Given the description of an element on the screen output the (x, y) to click on. 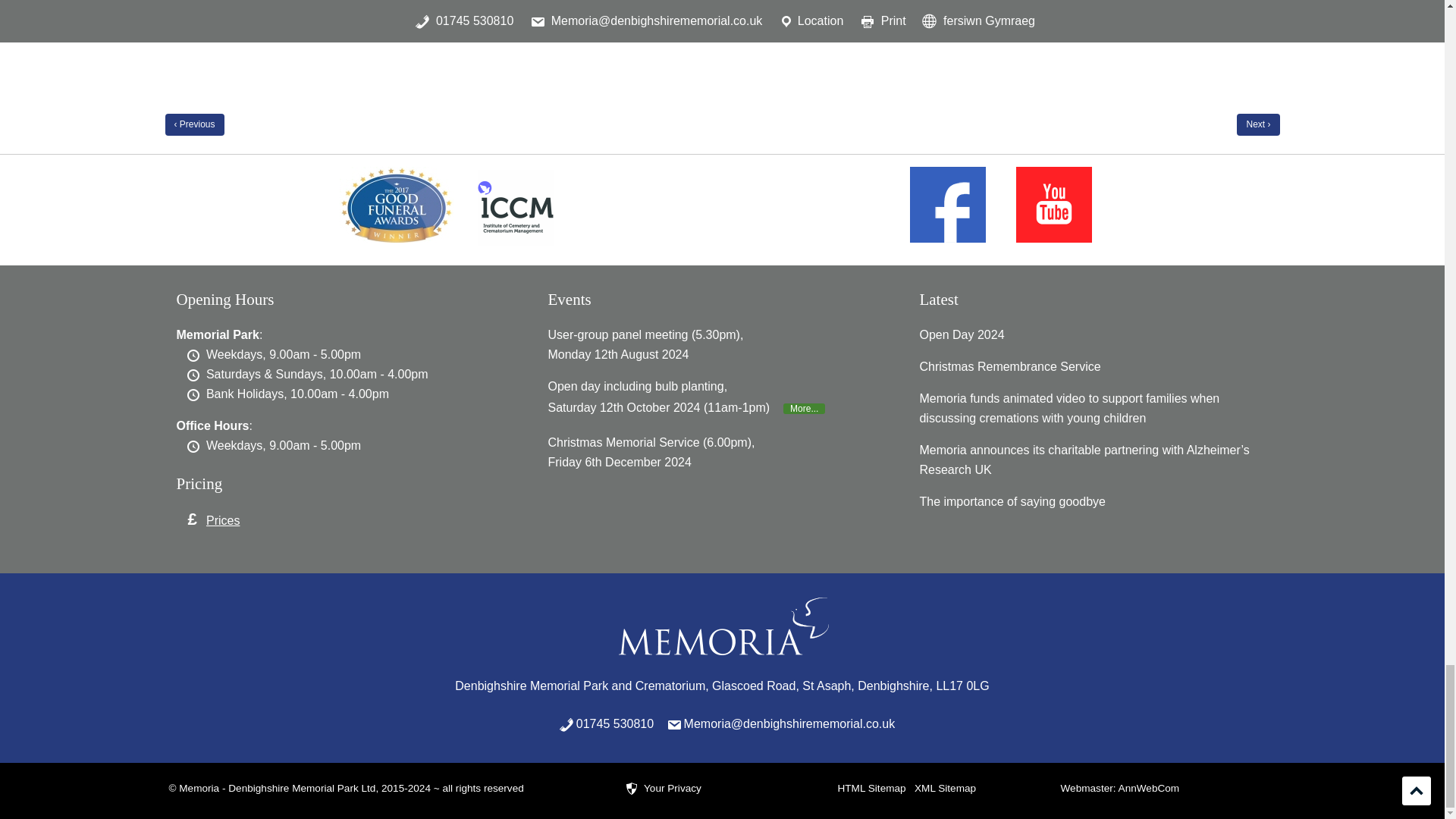
Memoria (721, 627)
phone (601, 723)
find us (962, 685)
Scroll (1416, 790)
email (776, 723)
meet us on facebook (947, 204)
